Given the description of an element on the screen output the (x, y) to click on. 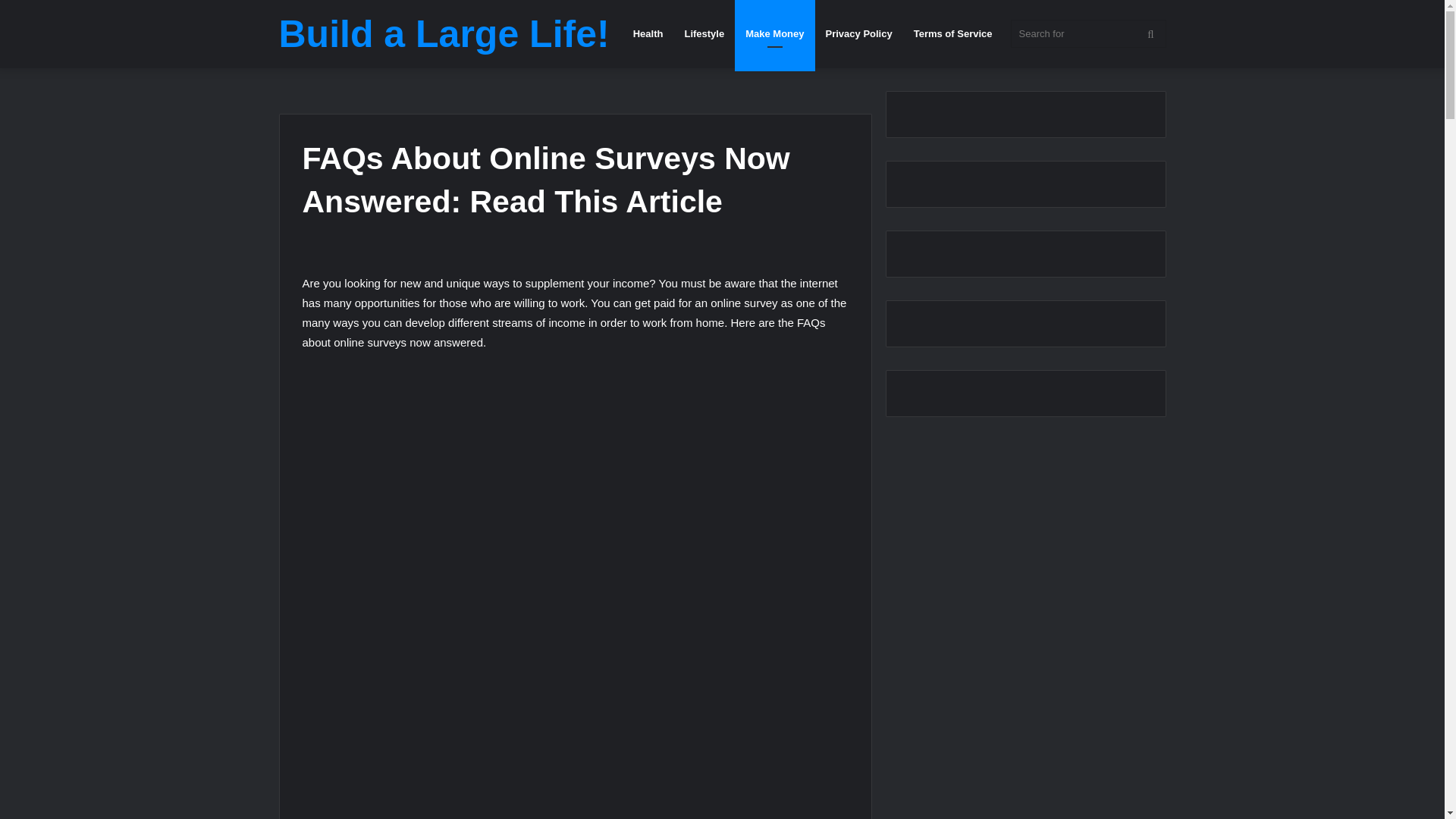
Privacy Policy (858, 33)
Terms of Service (952, 33)
Build a Large Life! (444, 34)
Build a Large Life! (444, 34)
Lifestyle (703, 33)
Search for (1088, 33)
Make Money (774, 33)
